Given the description of an element on the screen output the (x, y) to click on. 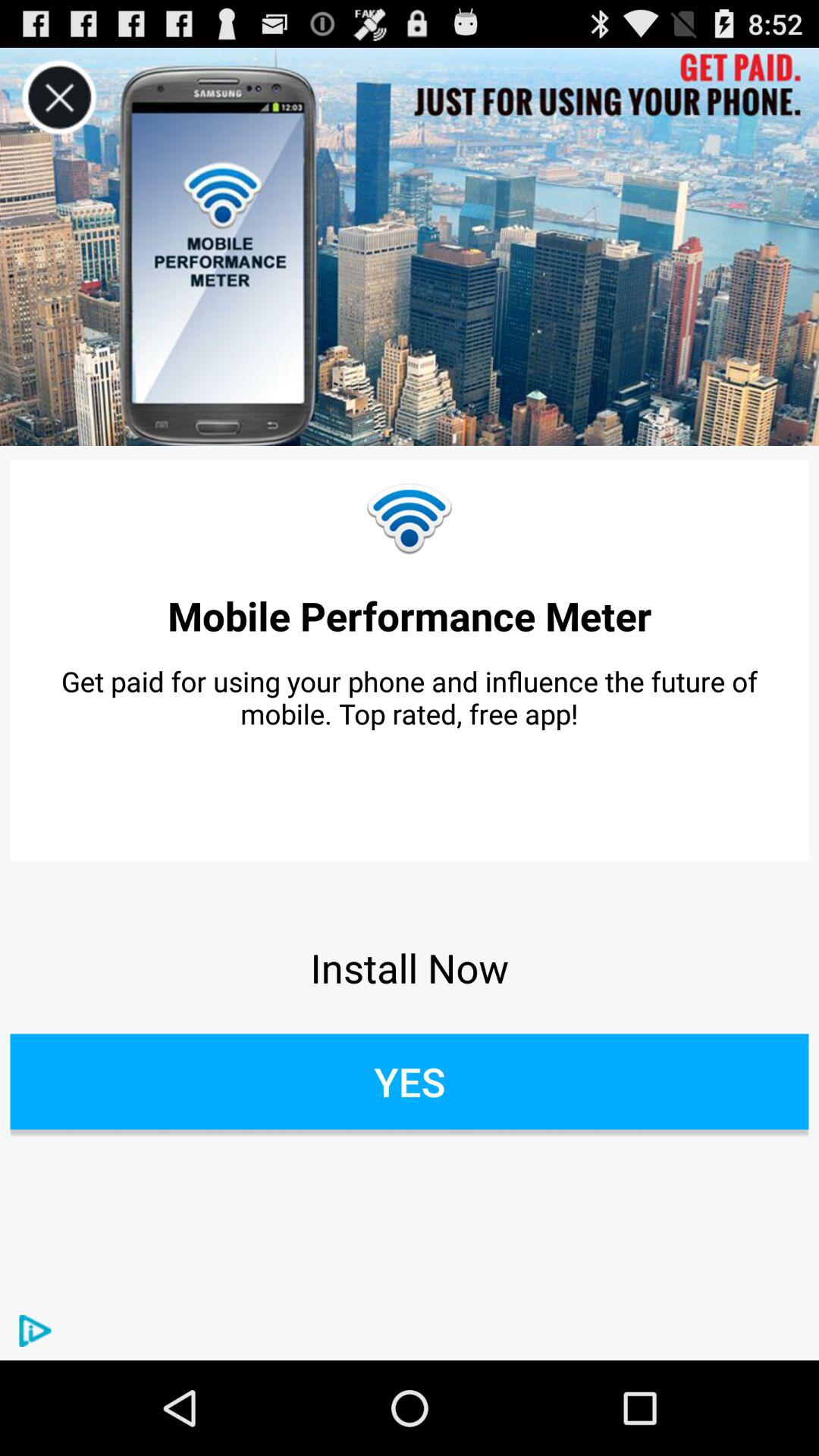
turn off the icon above mobile performance meter icon (59, 97)
